Given the description of an element on the screen output the (x, y) to click on. 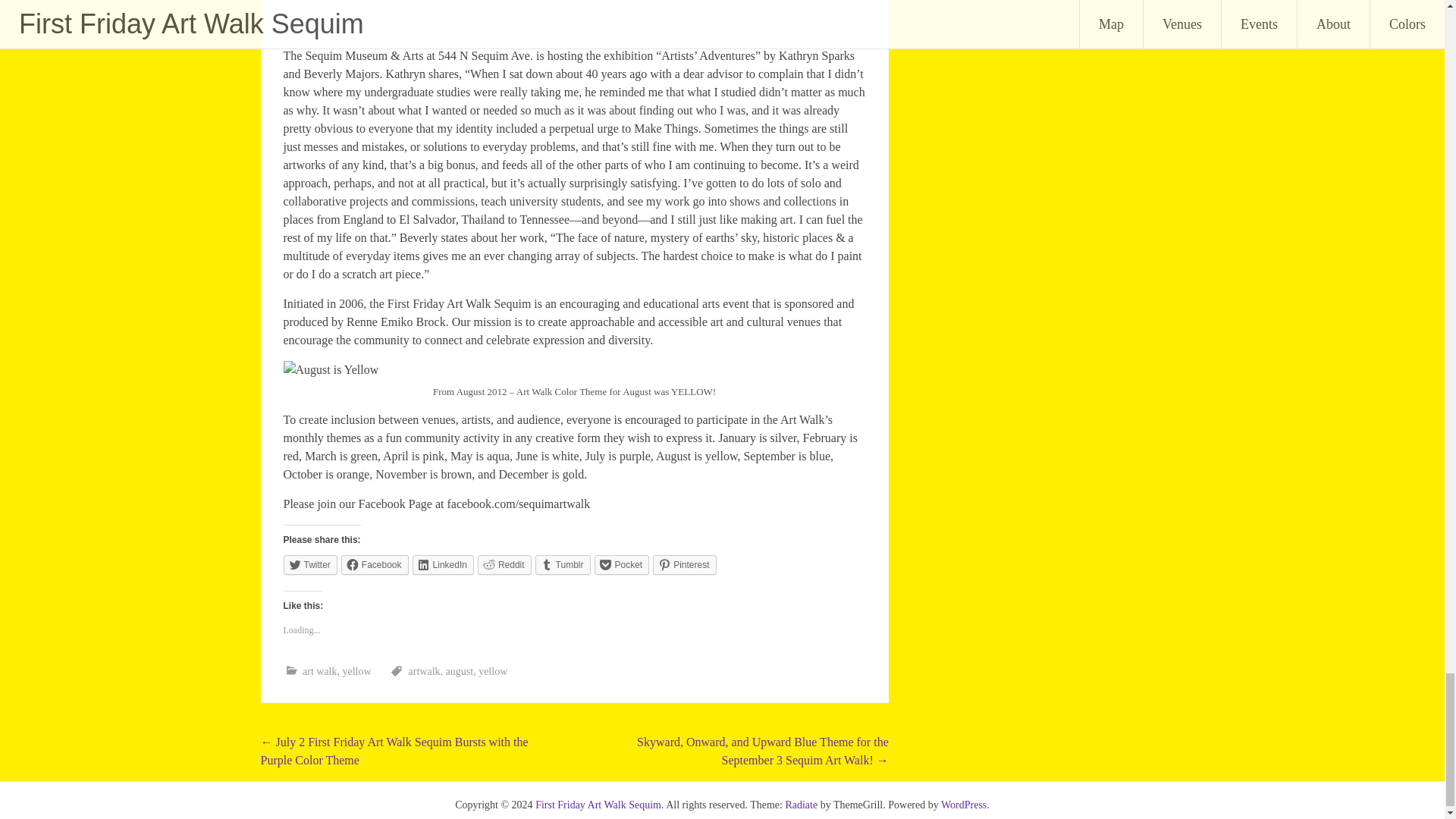
Radiate (800, 804)
artwalk (425, 671)
Tumblr (563, 564)
yellow (492, 671)
yellow (356, 671)
Radiate (800, 804)
Pocket (621, 564)
Click to share on Pocket (621, 564)
Twitter (310, 564)
WordPress (963, 804)
Click to share on LinkedIn (443, 564)
Click to share on Facebook (374, 564)
First Friday Art Walk Sequim (598, 804)
Click to share on Twitter (310, 564)
Reddit (504, 564)
